Given the description of an element on the screen output the (x, y) to click on. 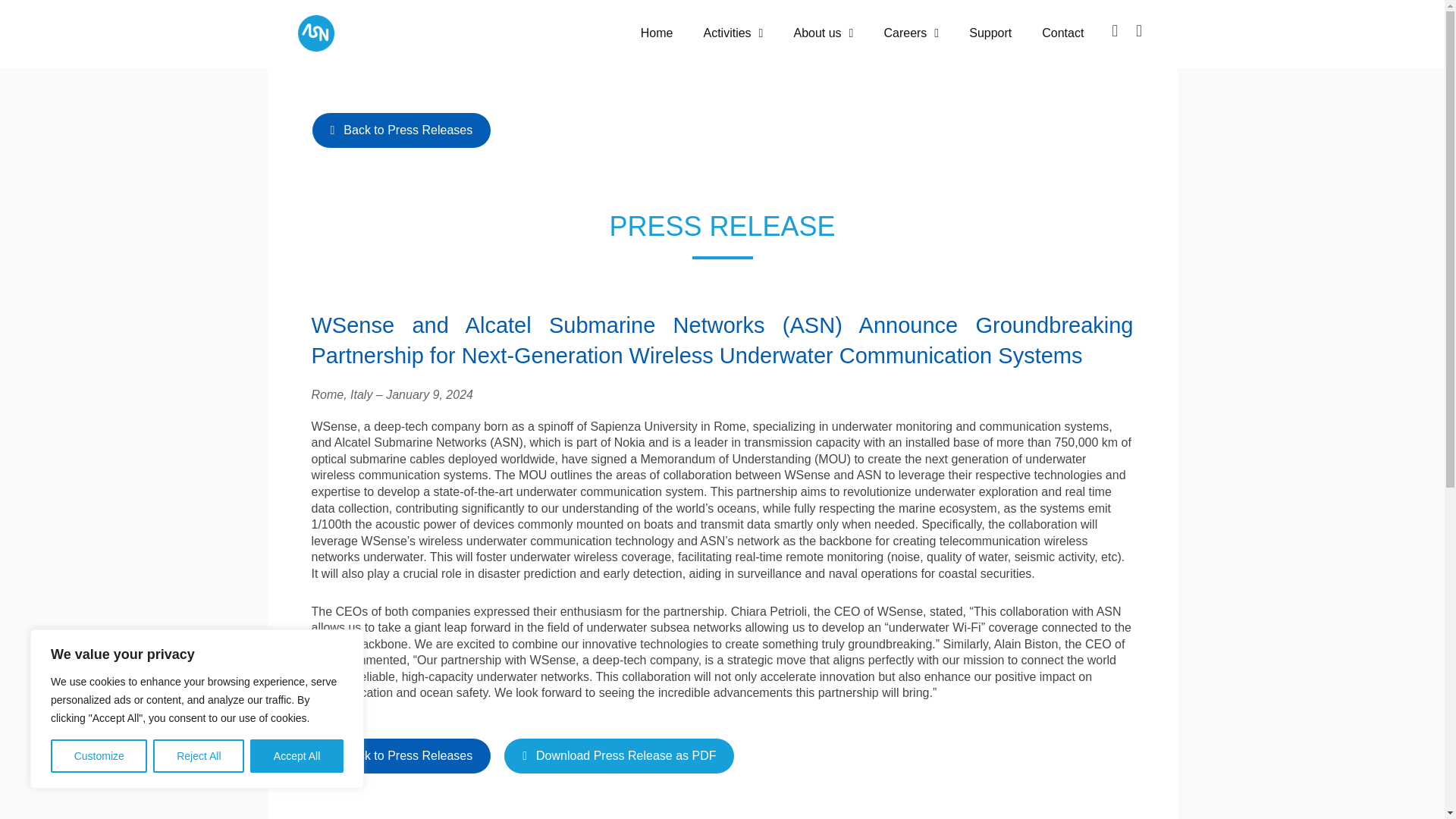
Contact (1062, 33)
Customize (98, 756)
Home (657, 33)
Support (989, 33)
About us (822, 33)
Careers (910, 33)
Reject All (198, 756)
Accept All (296, 756)
Activities (732, 33)
